Given the description of an element on the screen output the (x, y) to click on. 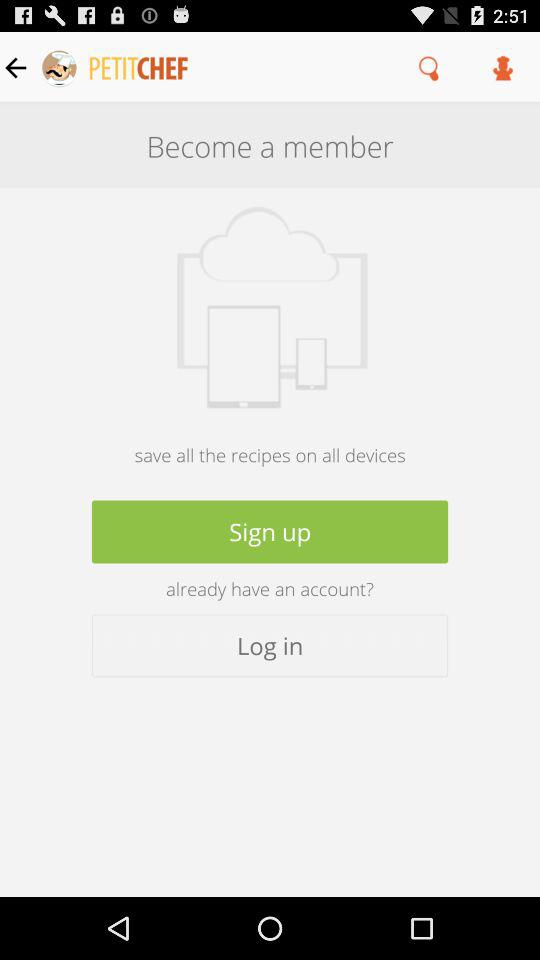
scroll to sign up icon (269, 531)
